Given the description of an element on the screen output the (x, y) to click on. 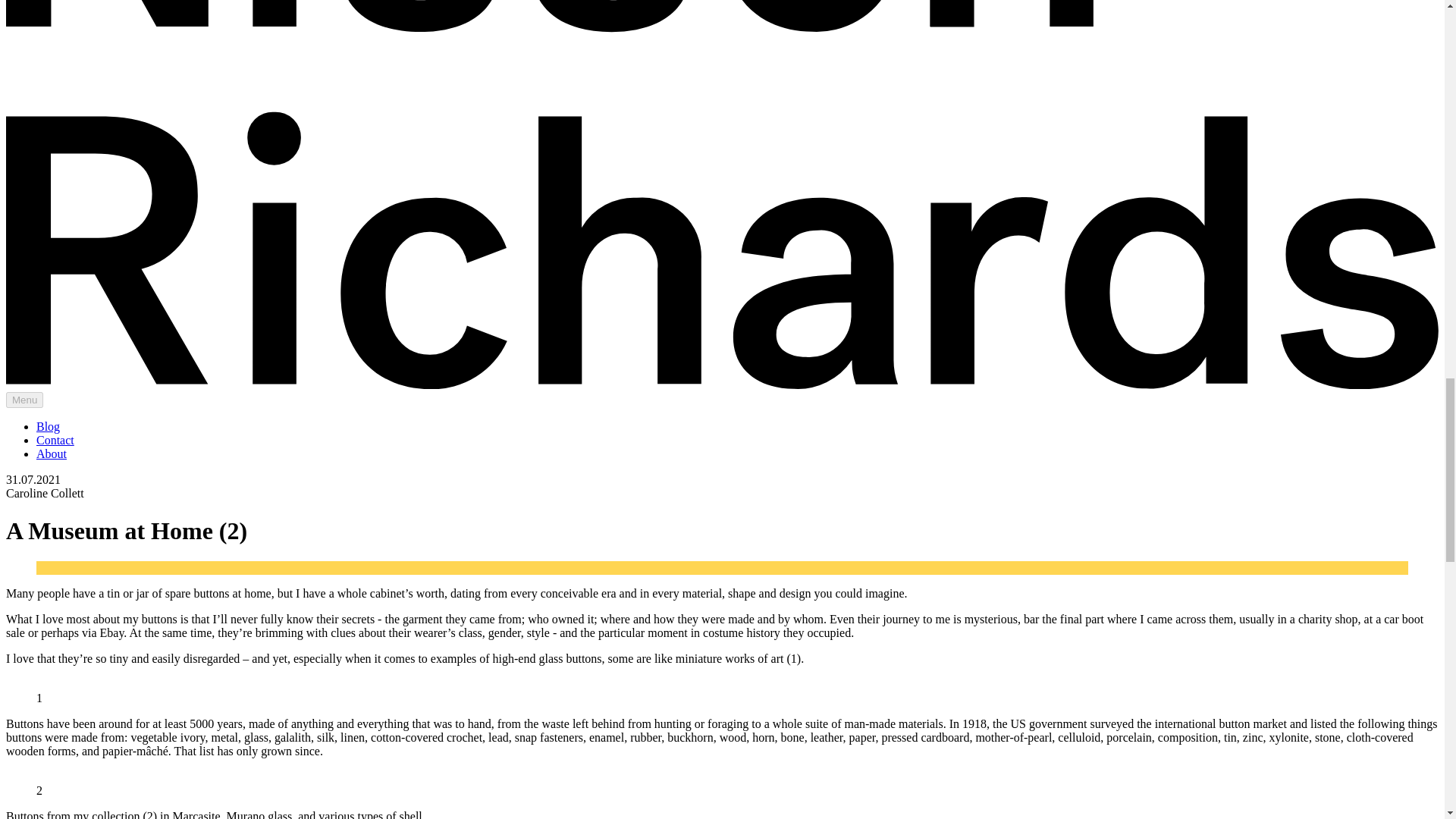
About (51, 453)
Blog (47, 426)
Contact (55, 440)
Menu (24, 399)
